Given the description of an element on the screen output the (x, y) to click on. 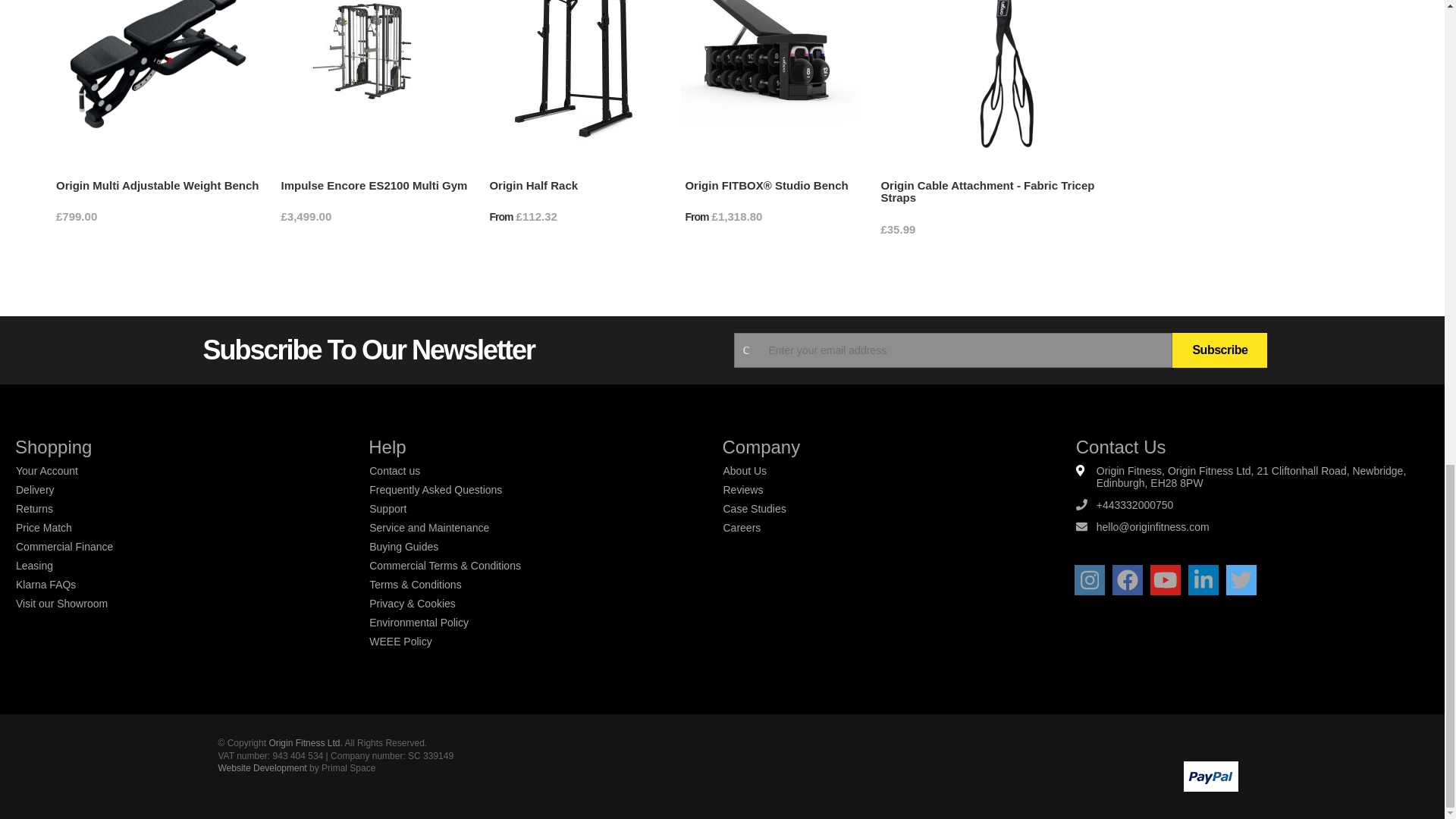
Origin Multi Adjustable Weight Bench (157, 186)
Origin Half Rack (533, 186)
Impulse Encore ES2100 Multi Gym (374, 186)
